Given the description of an element on the screen output the (x, y) to click on. 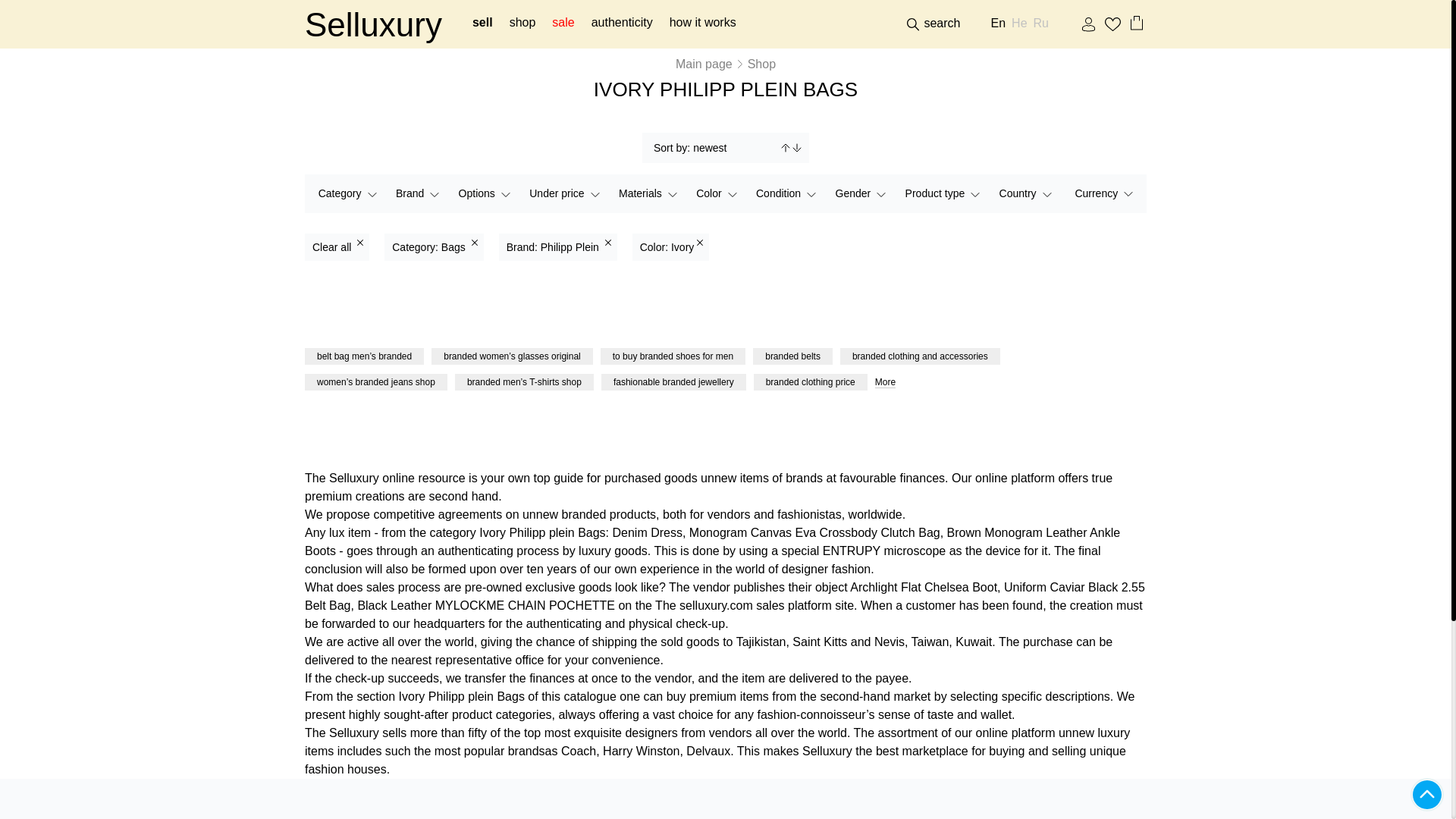
sale (562, 24)
Main page (703, 63)
authenticity (621, 24)
Selluxury (373, 24)
List an item (702, 24)
how it works (702, 24)
Category: Bags (433, 247)
selluxury (373, 24)
Color: Ivory (670, 247)
Main page (703, 63)
